Given the description of an element on the screen output the (x, y) to click on. 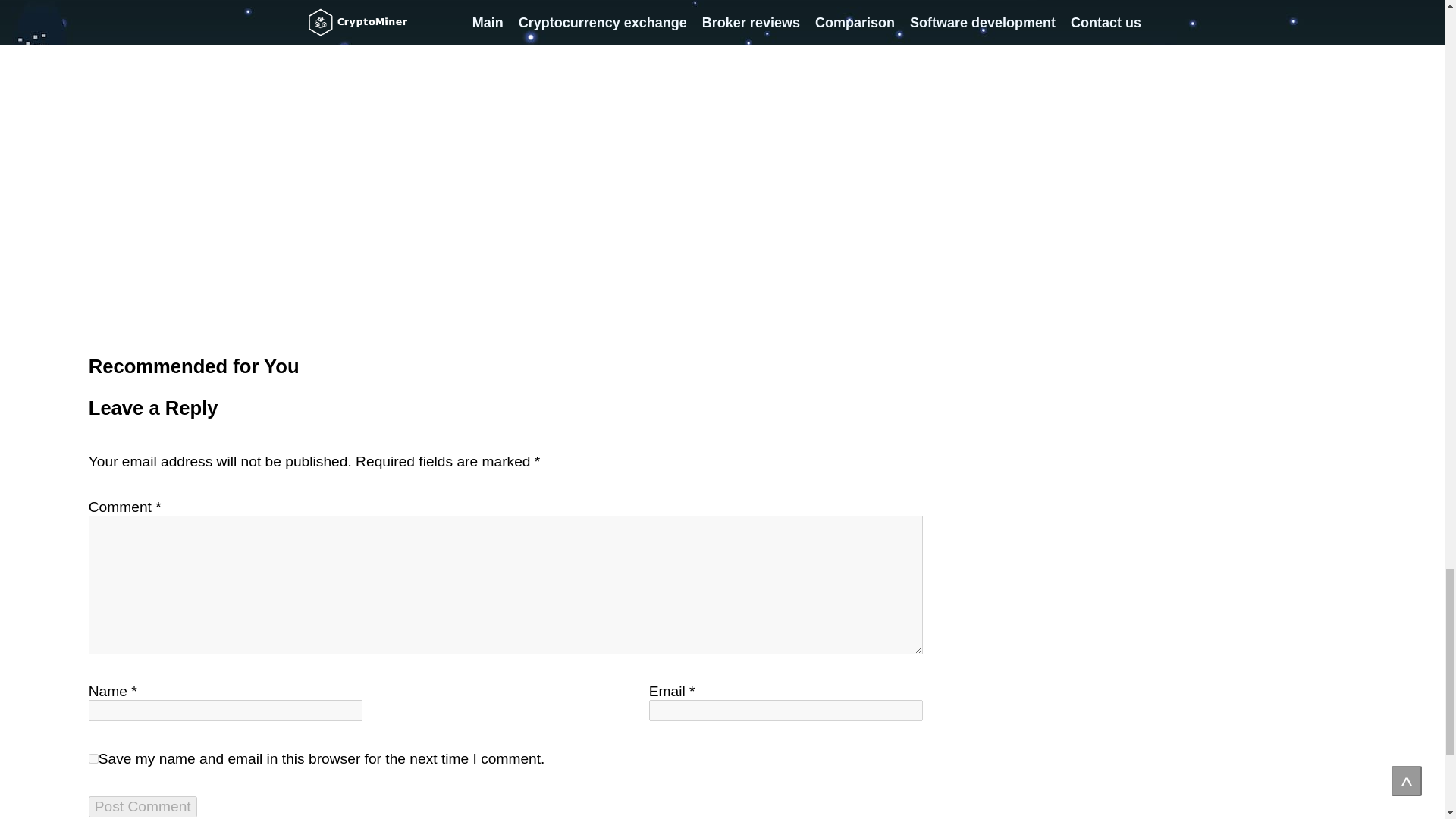
Post Comment (142, 806)
yes (93, 758)
